Given the description of an element on the screen output the (x, y) to click on. 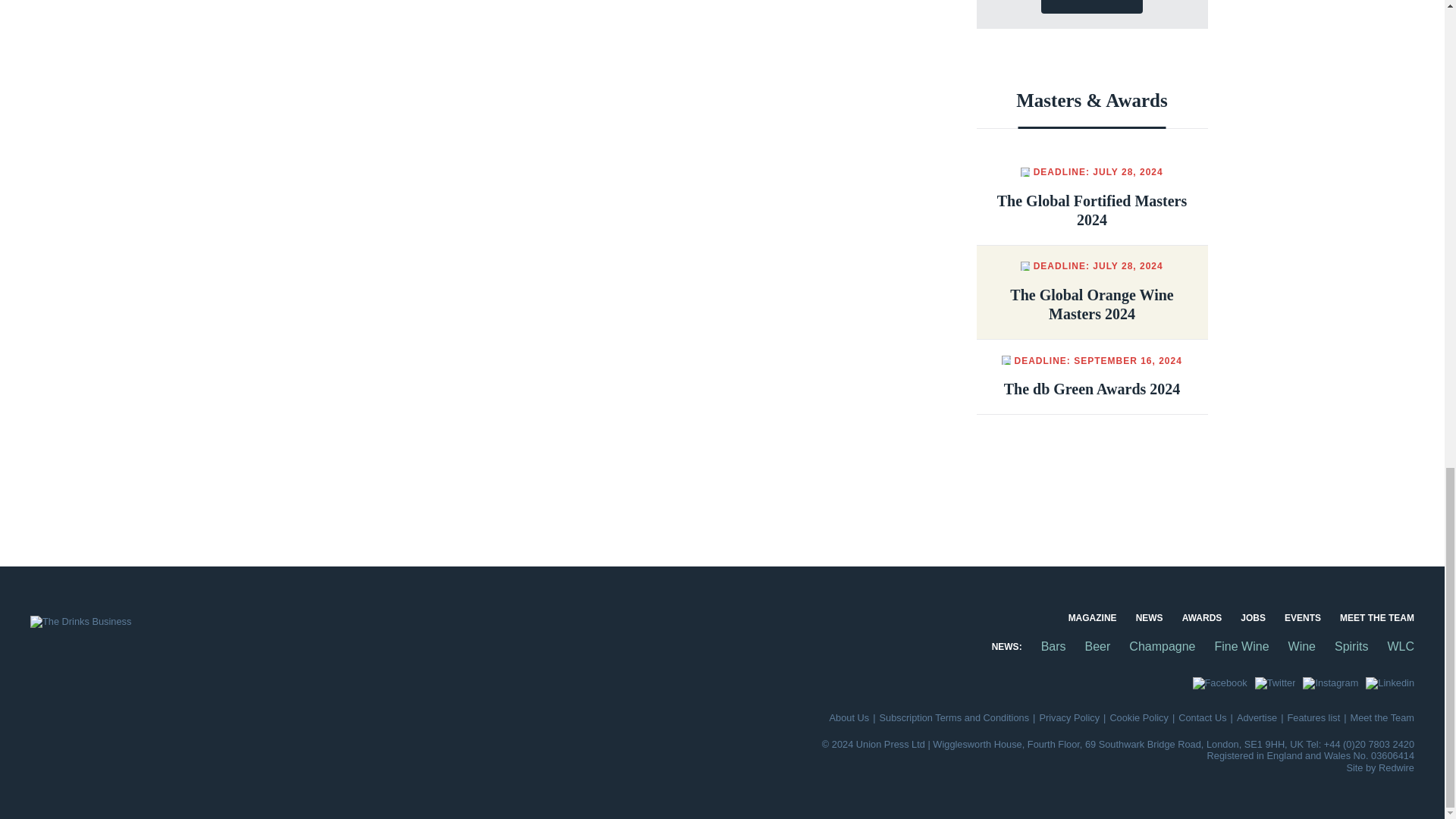
The Drinks Business (80, 621)
